Given the description of an element on the screen output the (x, y) to click on. 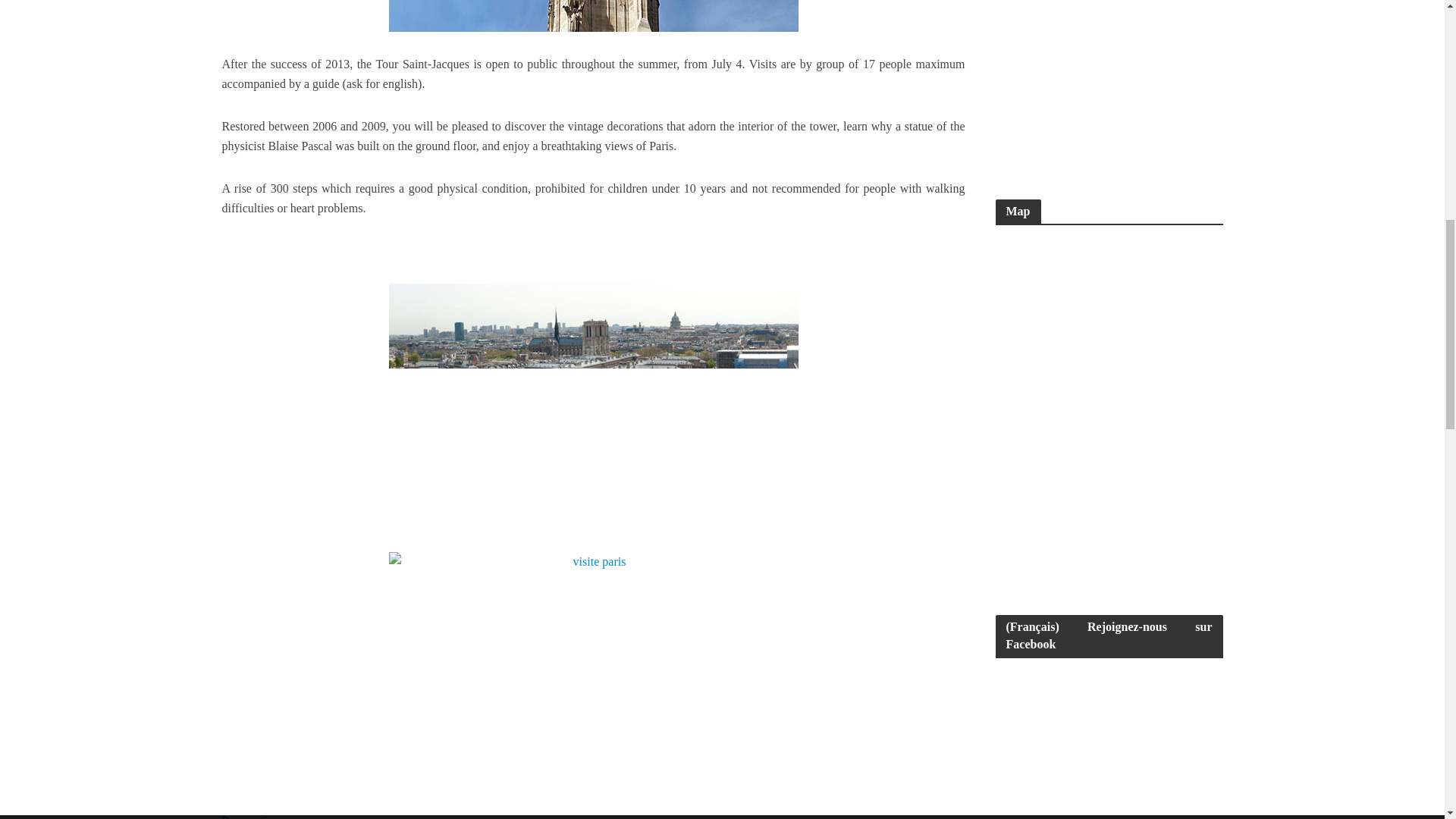
reservations (252, 816)
